Given the description of an element on the screen output the (x, y) to click on. 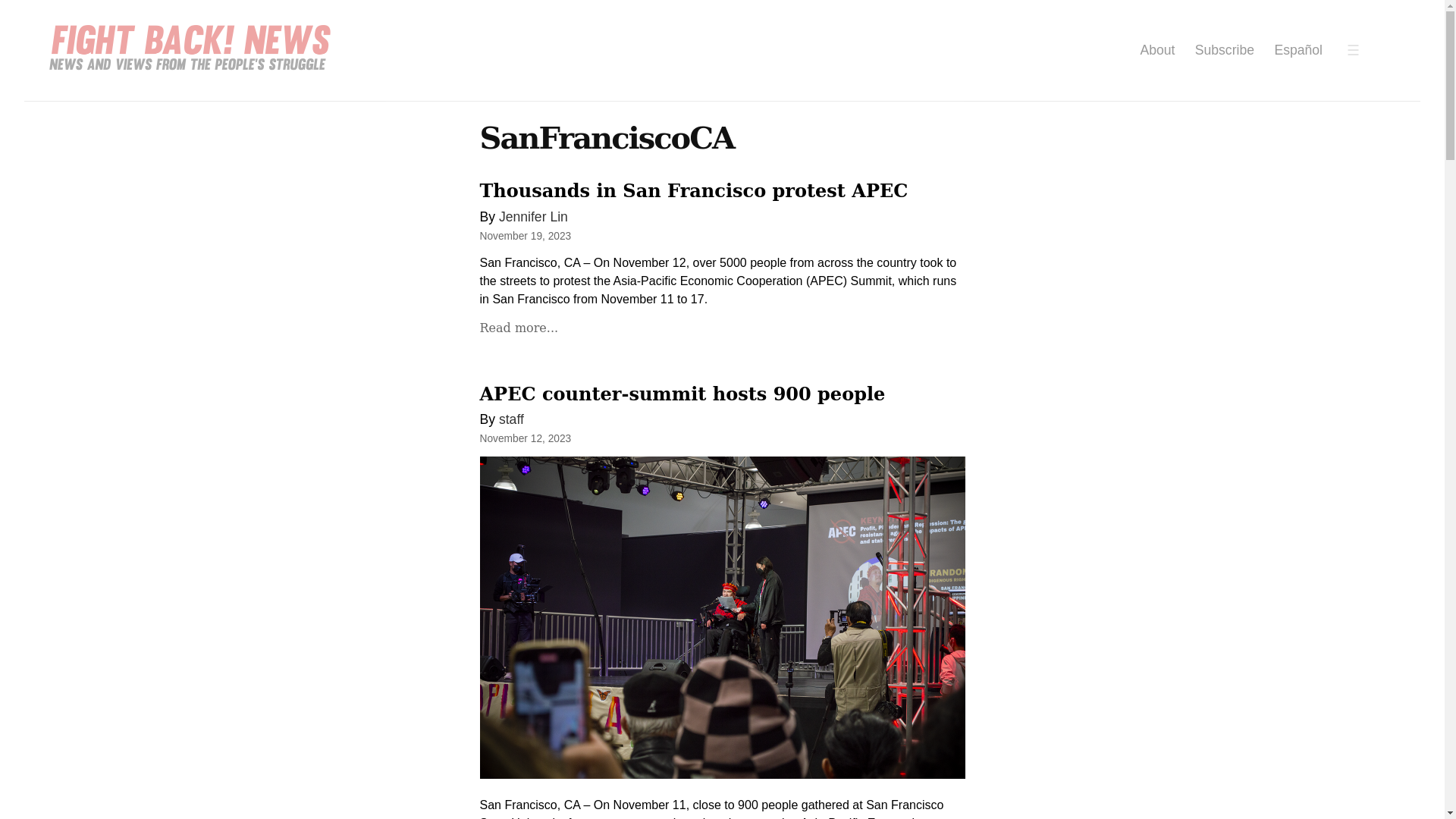
Subscribe (1224, 50)
About (1157, 50)
APEC counter-summit hosts 900 people (682, 393)
Jennifer Lin (533, 216)
Read more... (518, 327)
staff (511, 418)
Thousands in San Francisco protest APEC (693, 190)
